Given the description of an element on the screen output the (x, y) to click on. 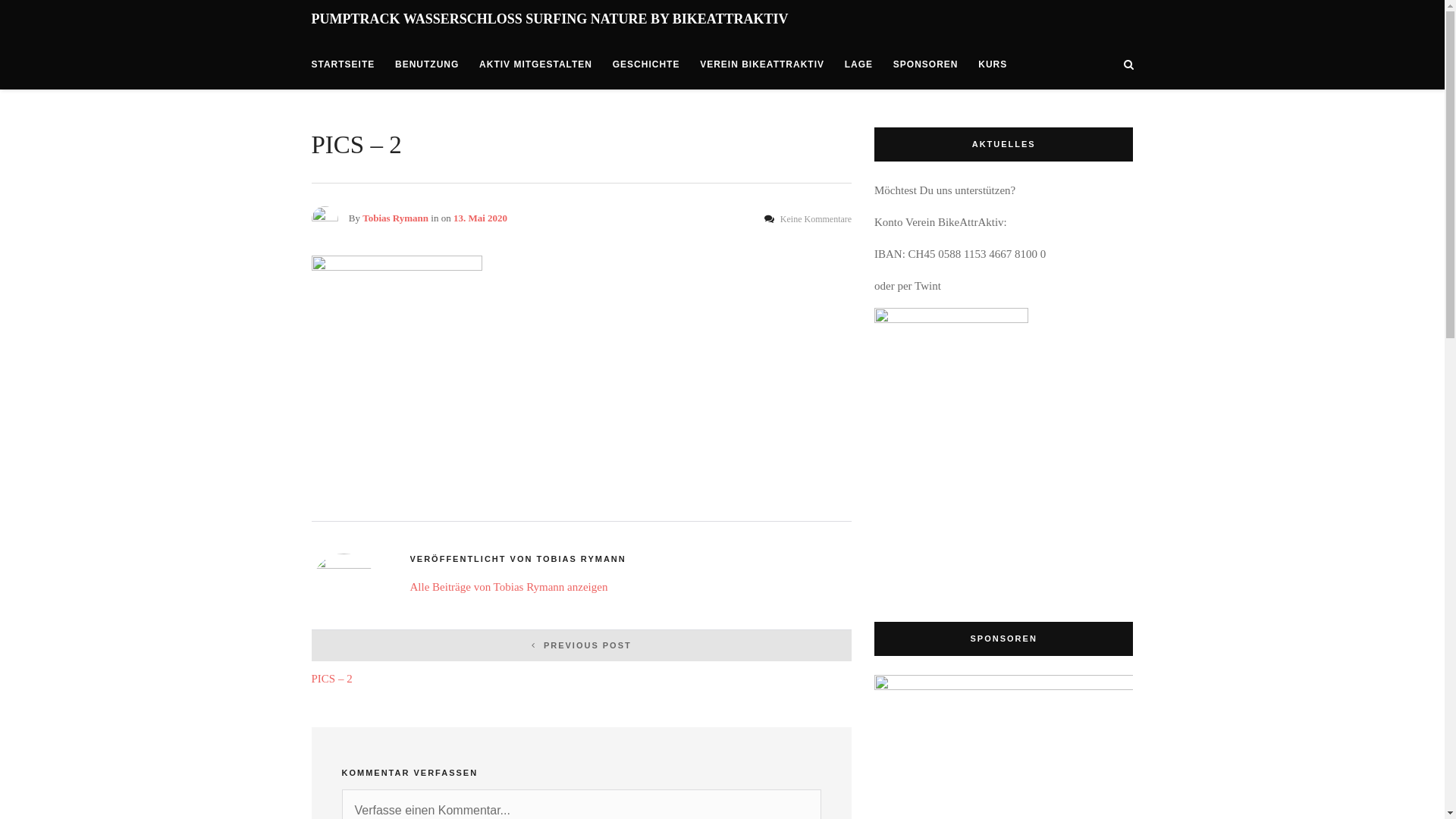
PUMPTRACK WASSERSCHLOSS SURFING NATURE BY BIKEATTRAKTIV Element type: text (548, 18)
STARTSEITE Element type: text (342, 62)
BENUTZUNG Element type: text (426, 62)
LAGE Element type: text (858, 62)
SPONSOREN Element type: text (925, 62)
Suche Element type: text (1273, 107)
KURS Element type: text (992, 62)
Keine Kommentare Element type: text (807, 218)
AKTIV MITGESTALTEN Element type: text (535, 62)
Tobias Rymann Element type: text (395, 217)
VEREIN BIKEATTRAKTIV Element type: text (761, 62)
13. Mai 2020 Element type: text (480, 217)
GESCHICHTE Element type: text (646, 62)
